Given the description of an element on the screen output the (x, y) to click on. 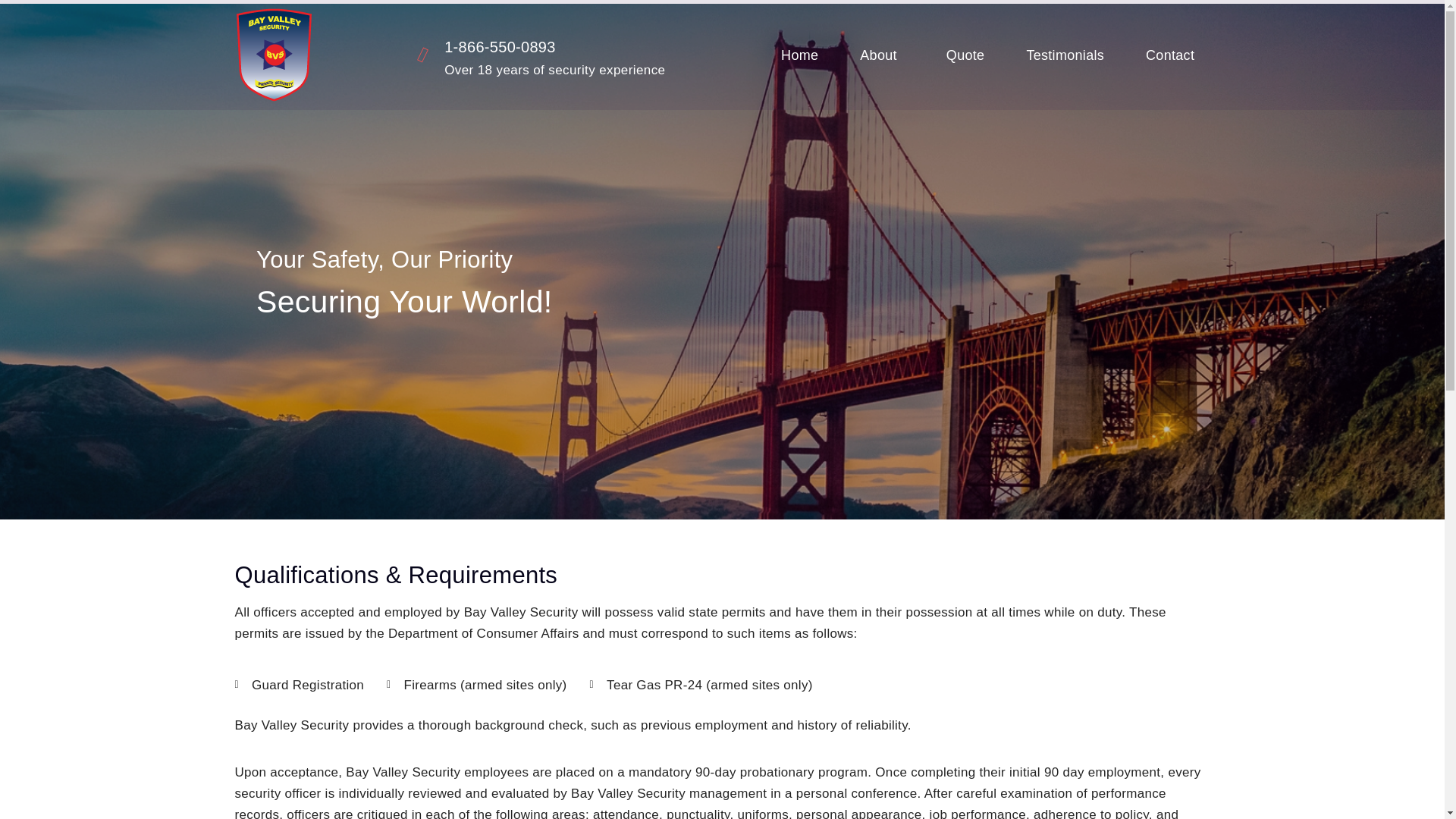
Testimonials (1064, 54)
Home (798, 54)
About (882, 54)
Quote (965, 54)
Contact (1170, 54)
